Given the description of an element on the screen output the (x, y) to click on. 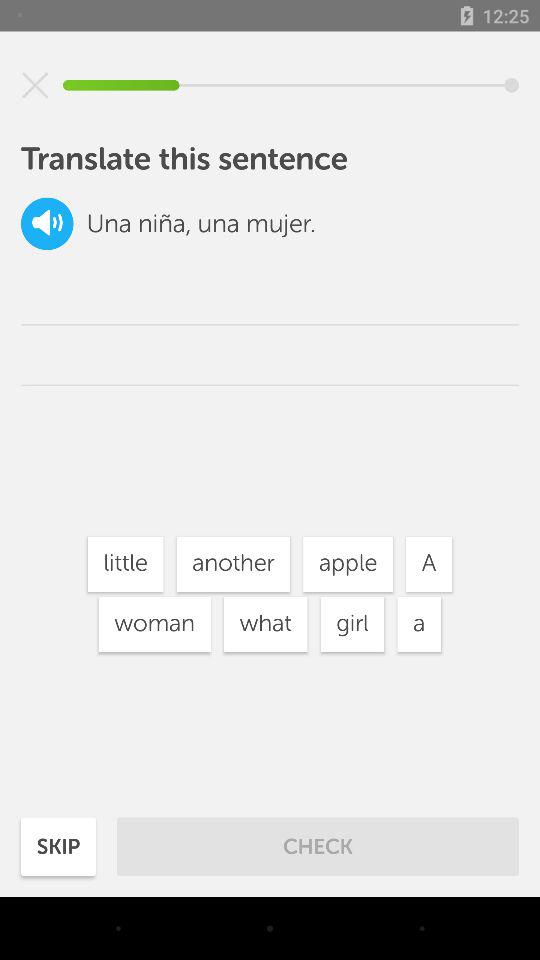
flip to little (125, 563)
